Given the description of an element on the screen output the (x, y) to click on. 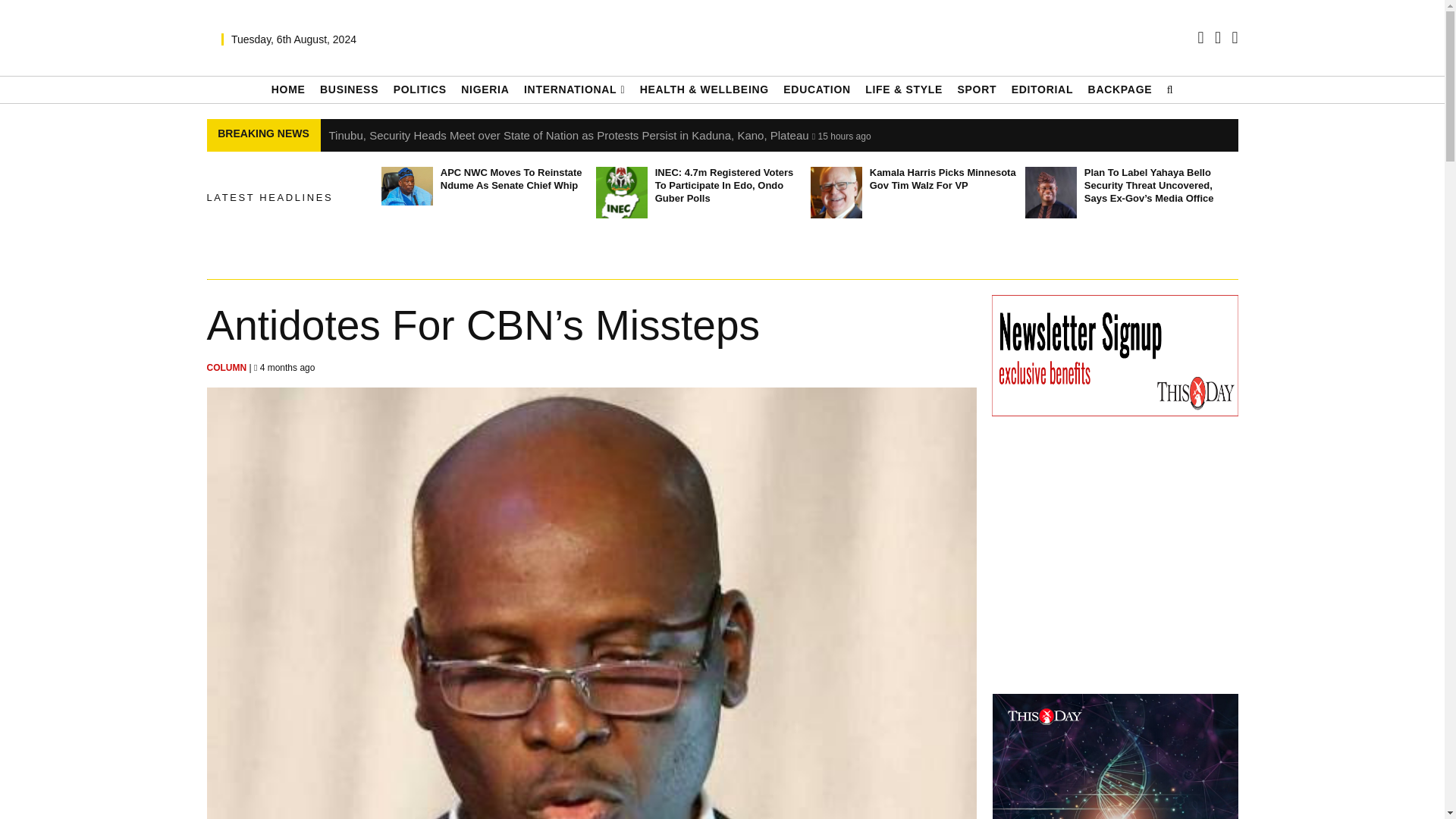
HOME (287, 89)
NIGERIA (484, 89)
APC NWC Moves to Reinstate Ndume as Senate Chief Whip (406, 186)
SPORT (975, 89)
POLITICS (419, 89)
BUSINESS (349, 89)
EDITORIAL (1042, 89)
INTERNATIONAL (574, 89)
Kamala Harris Picks Minnesota Gov Tim Walz for VP (835, 192)
EDUCATION (816, 89)
